Given the description of an element on the screen output the (x, y) to click on. 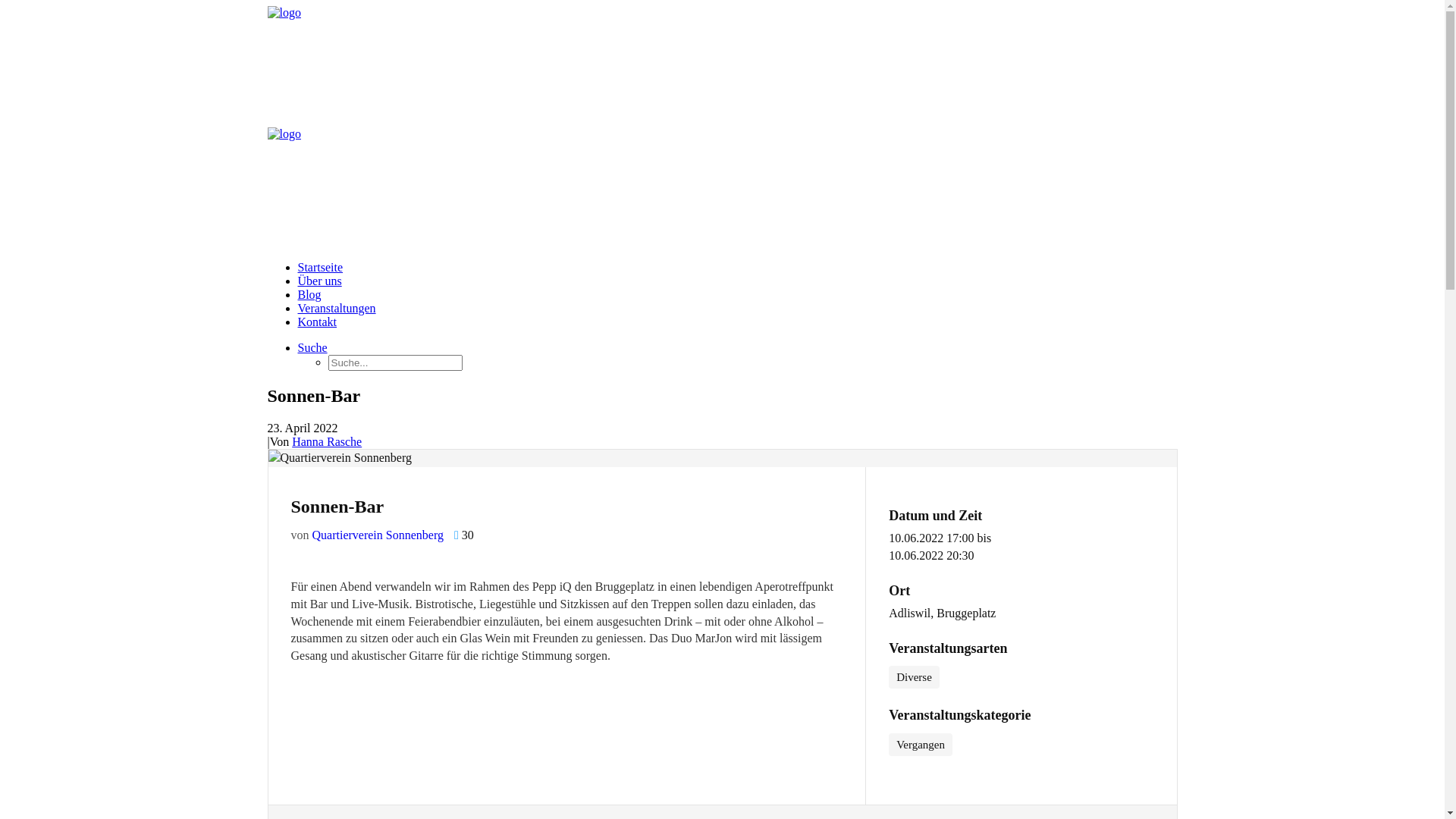
Blog Element type: text (308, 294)
Hanna Rasche Element type: text (326, 441)
Kontakt Element type: text (316, 321)
Diverse Element type: text (913, 676)
Startseite Element type: text (319, 266)
Adliswil, Bruggeplatz Element type: text (941, 613)
Suche... Element type: hover (394, 362)
Suche Element type: text (311, 347)
Vergangen Element type: text (920, 744)
Veranstaltungen Element type: text (336, 307)
Quartierverein Sonnenberg Element type: text (377, 534)
